Given the description of an element on the screen output the (x, y) to click on. 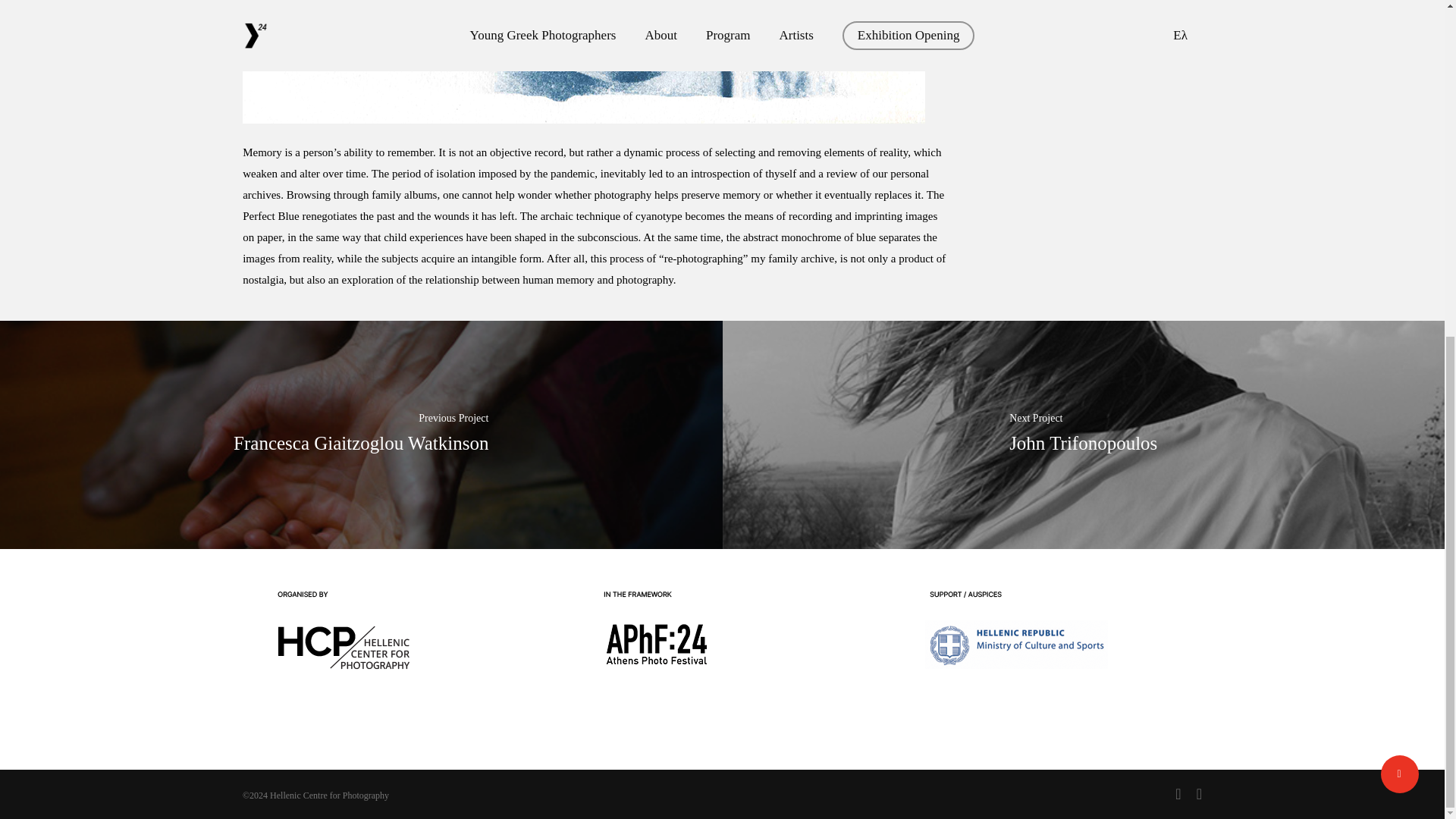
facebook (1177, 793)
instagram (1199, 793)
